Given the description of an element on the screen output the (x, y) to click on. 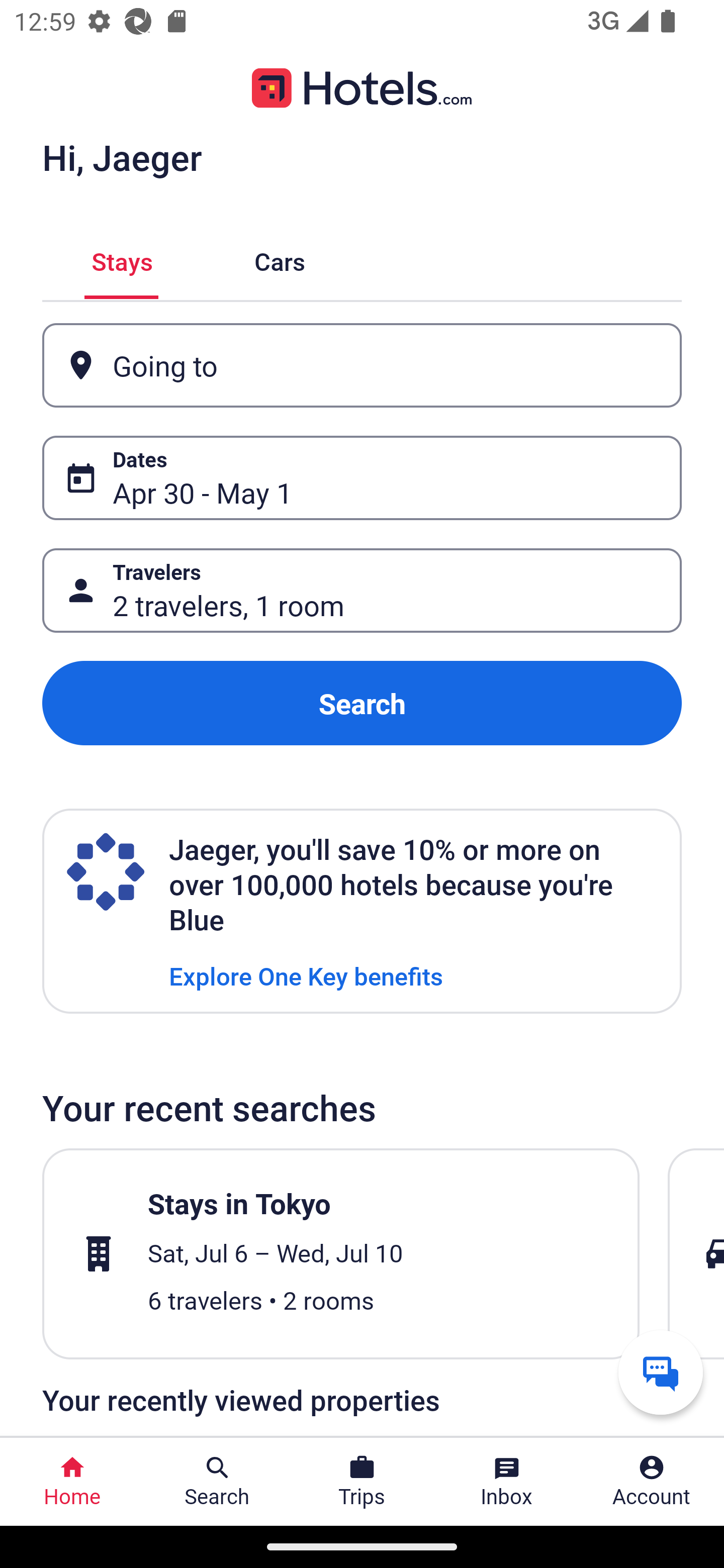
Hi, Jaeger (121, 156)
Cars (279, 259)
Going to Button (361, 365)
Dates Button Apr 30 - May 1 (361, 477)
Travelers Button 2 travelers, 1 room (361, 590)
Search (361, 702)
Get help from a virtual agent (660, 1371)
Search Search Button (216, 1481)
Trips Trips Button (361, 1481)
Inbox Inbox Button (506, 1481)
Account Profile. Button (651, 1481)
